Given the description of an element on the screen output the (x, y) to click on. 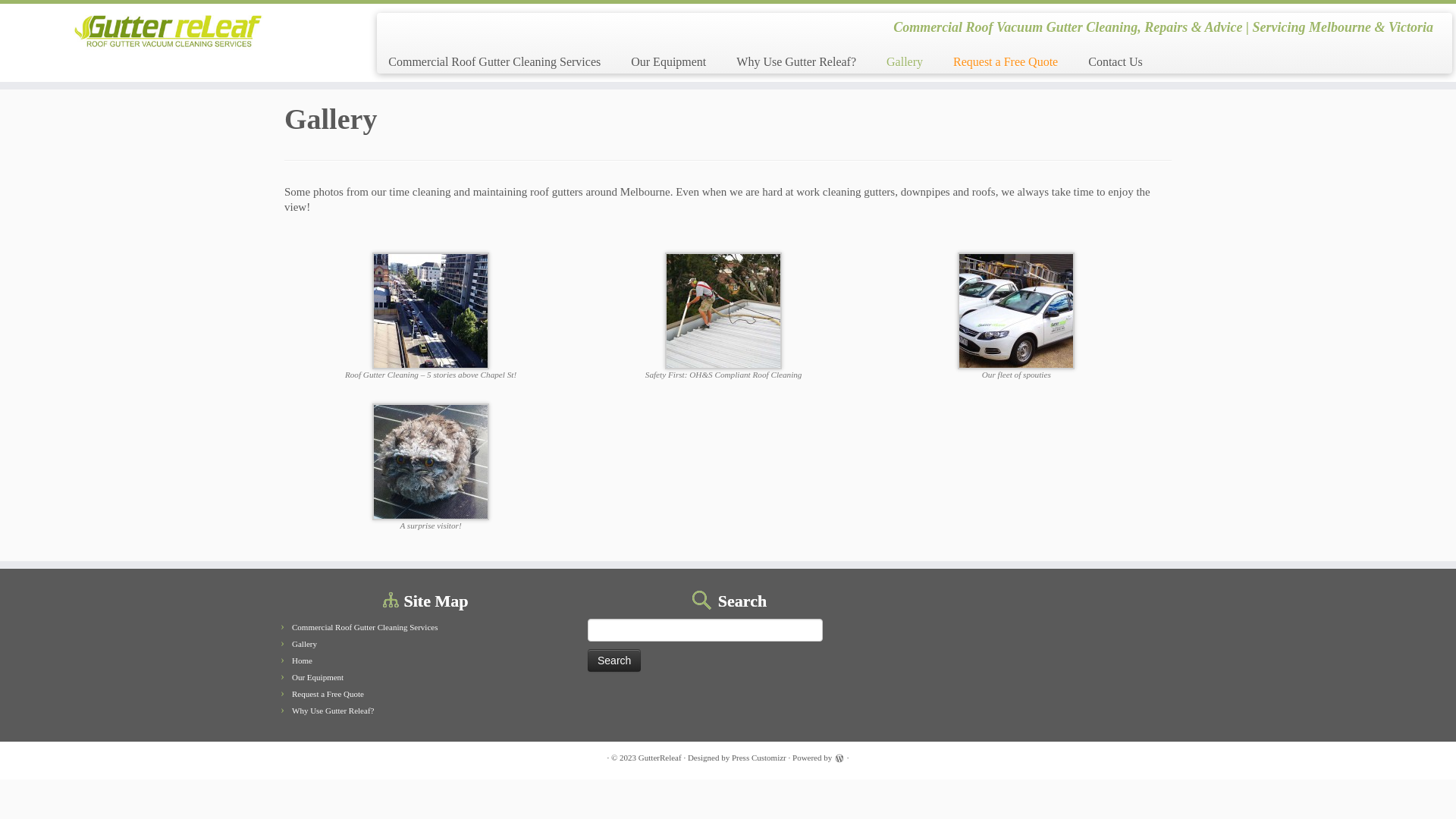
Gallery Element type: text (303, 643)
Contact Us Element type: text (1107, 61)
Why Use Gutter Releaf? Element type: text (796, 61)
Request a Free Quote Element type: text (327, 693)
Commercial Roof Gutter Cleaning Services Element type: text (499, 61)
Our Equipment Element type: text (317, 676)
Our Equipment Element type: text (668, 61)
Search Element type: text (613, 660)
Home Element type: text (301, 660)
Gallery Element type: text (904, 61)
Why Use Gutter Releaf? Element type: text (332, 710)
GutterReleaf Element type: text (659, 757)
Commercial Roof Gutter Cleaning Services Element type: text (364, 626)
Request a Free Quote Element type: text (1005, 61)
Press Customizr Element type: text (758, 757)
Powered by Wordpress Element type: hover (839, 757)
